Given the description of an element on the screen output the (x, y) to click on. 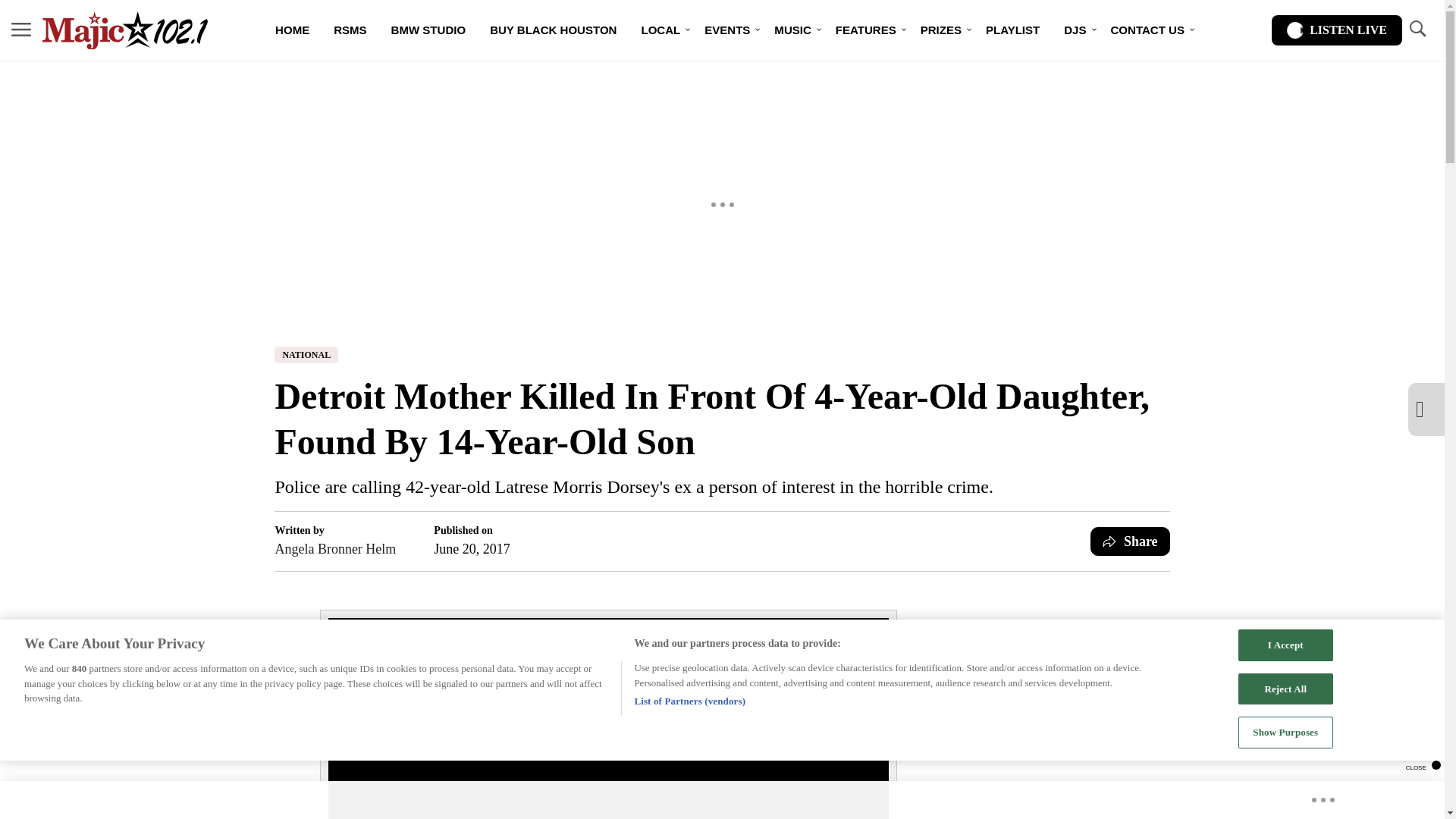
RSMS (349, 30)
BUY BLACK HOUSTON (552, 30)
BMW STUDIO (428, 30)
PLAYLIST (1012, 30)
EVENTS (727, 30)
PRIZES (941, 30)
HOME (292, 30)
MUSIC (791, 30)
MENU (20, 29)
TOGGLE SEARCH (1417, 28)
CONTACT US (1147, 30)
MENU (20, 30)
LOCAL (660, 30)
FEATURES (866, 30)
